Given the description of an element on the screen output the (x, y) to click on. 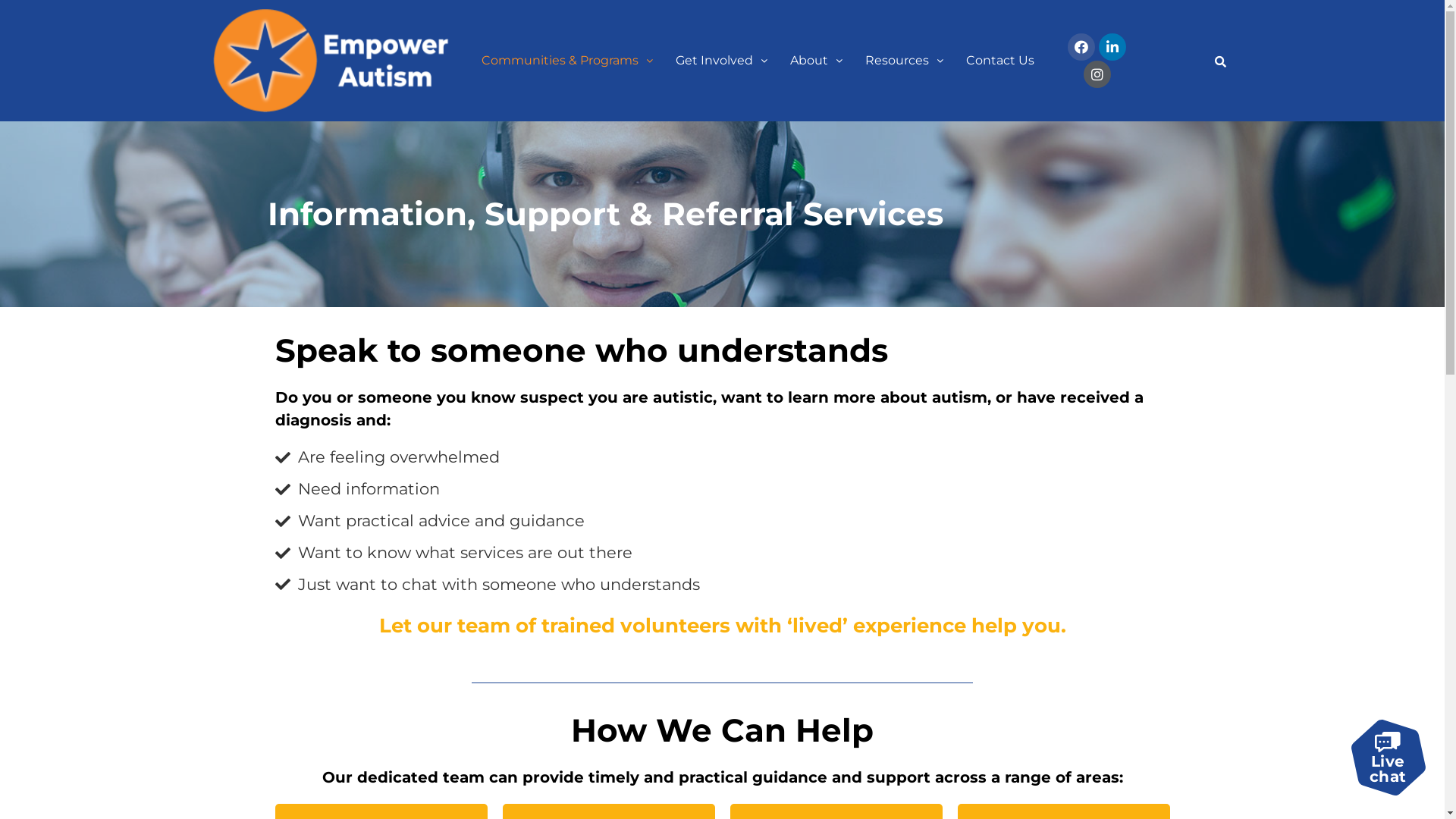
Facebook Element type: text (1081, 46)
Linkedin Element type: text (1112, 46)
Search Element type: hover (1217, 60)
Communities & Programs Element type: text (567, 60)
About Element type: text (815, 60)
Instagram Element type: text (1096, 73)
Get Involved Element type: text (721, 60)
Contact Us Element type: text (999, 60)
Resources Element type: text (903, 60)
